Given the description of an element on the screen output the (x, y) to click on. 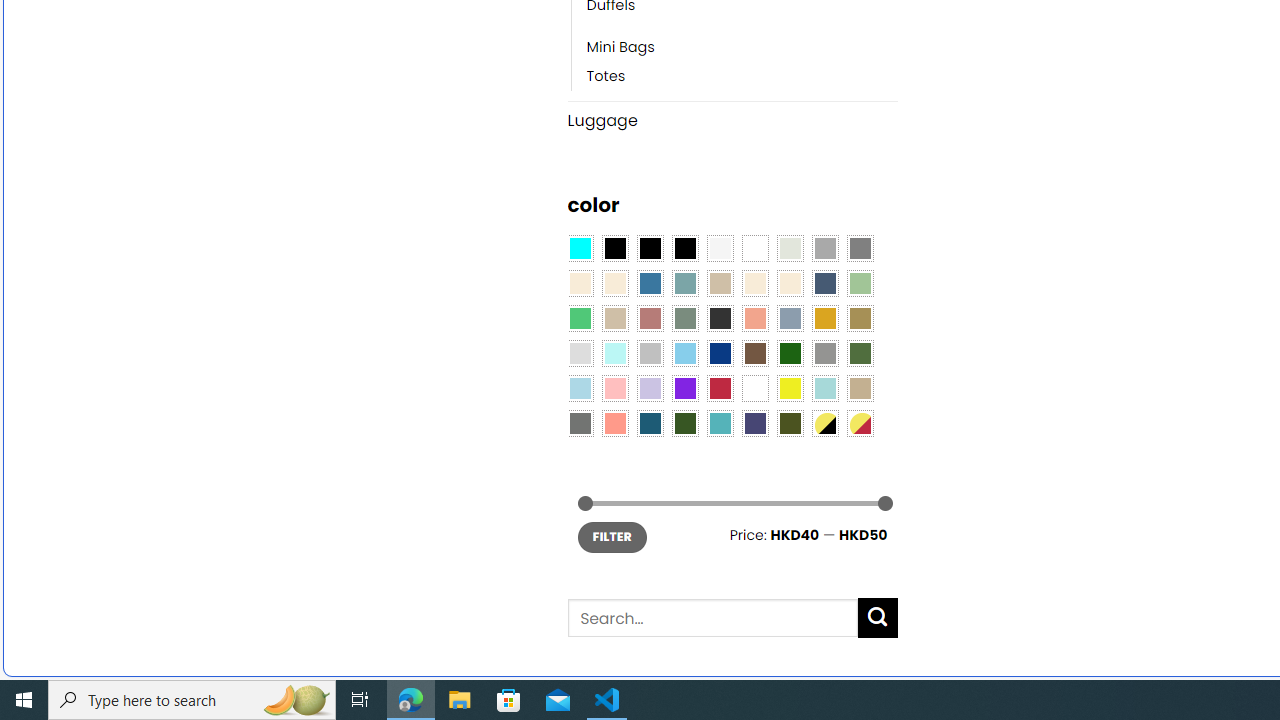
Sky Blue (684, 354)
Dark Gray (824, 249)
Kelp (859, 318)
Dusty Blue (789, 318)
Navy Blue (719, 354)
Army Green (789, 424)
Purple Navy (755, 424)
Green (859, 354)
Gold (824, 318)
Charcoal (719, 318)
Blue (650, 283)
Brownie (719, 283)
Totes (605, 76)
Luggage (732, 120)
Mini Bags (620, 48)
